Given the description of an element on the screen output the (x, y) to click on. 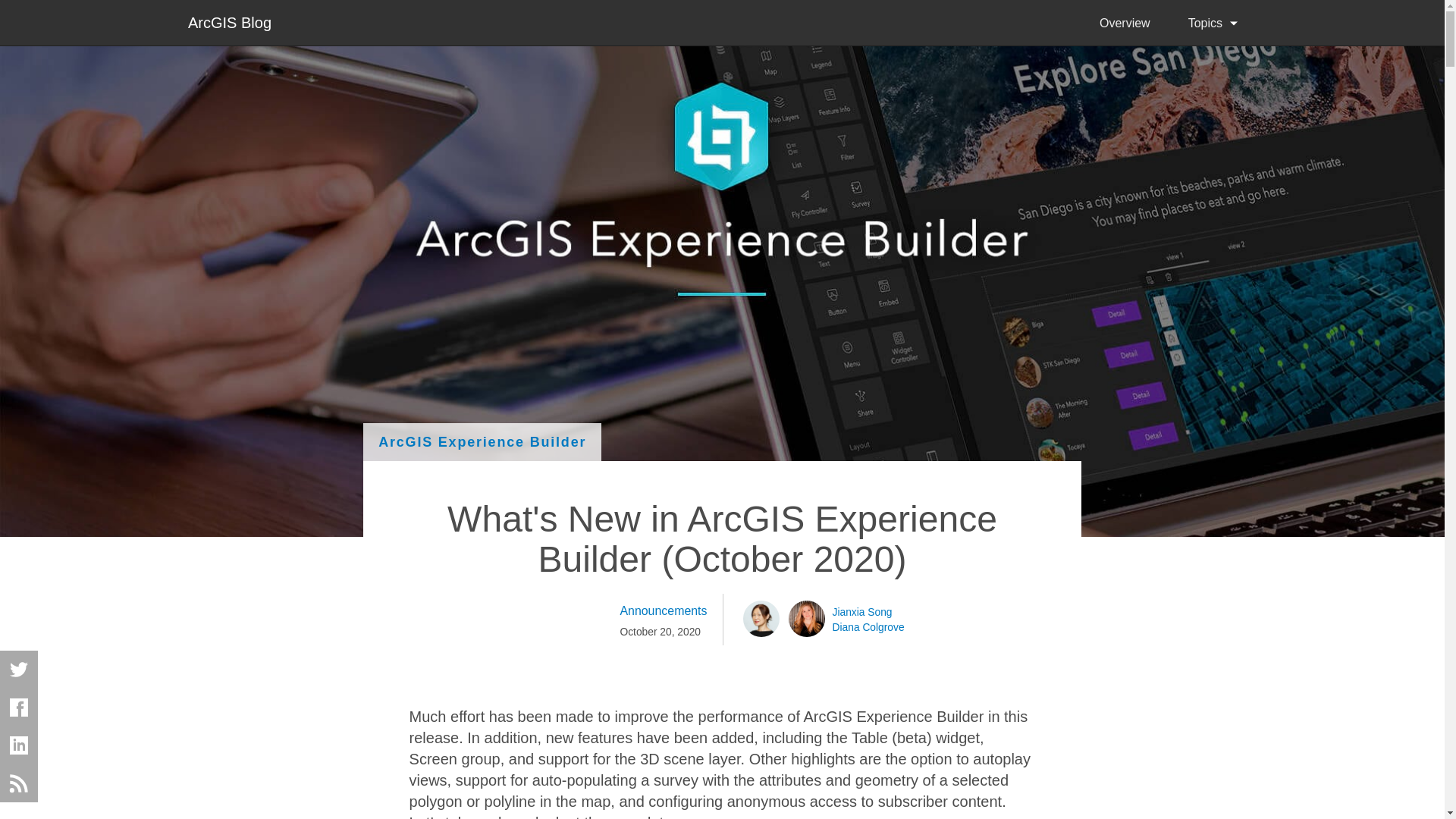
ArcGIS Experience Builder (481, 442)
ArcGIS Blog (228, 21)
Diana Colgrove (868, 626)
Overview (1124, 22)
Jianxia Song (862, 611)
Topics (1212, 22)
Announcements (663, 610)
